Given the description of an element on the screen output the (x, y) to click on. 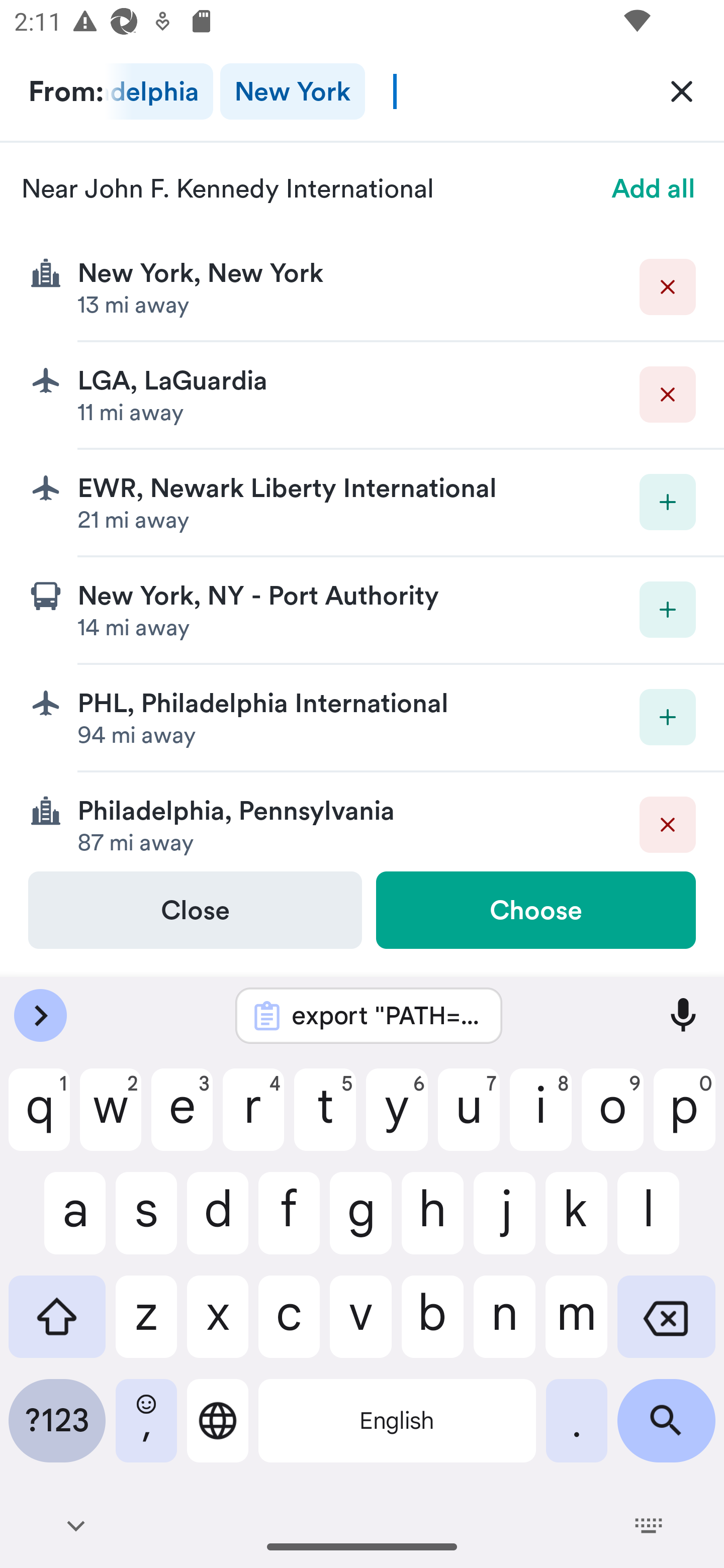
Clear All (681, 90)
Philadelphia (158, 91)
New York (292, 91)
Add all (653, 187)
Delete New York, New York 13 mi away (362, 287)
Delete (667, 286)
Delete LGA, LaGuardia 11 mi away (362, 395)
Delete (667, 394)
Add destination (667, 501)
Add destination (667, 609)
Add destination (667, 716)
Delete Philadelphia, Pennsylvania 87 mi away (362, 821)
Delete (667, 824)
Close (195, 909)
Choose (535, 909)
